Given the description of an element on the screen output the (x, y) to click on. 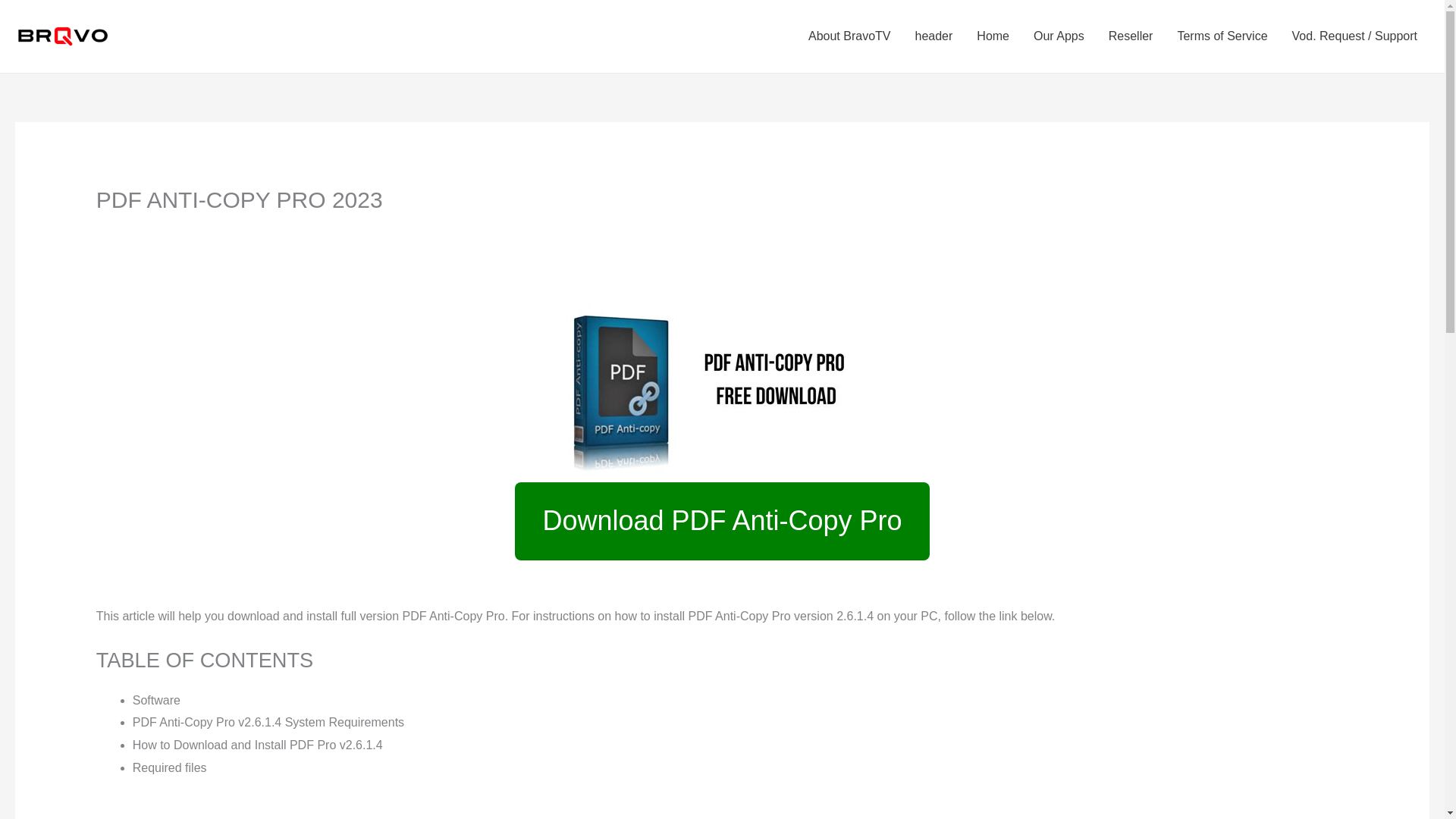
Our Apps (1059, 36)
Reseller (1131, 36)
Home (992, 36)
Download PDF Anti-Copy Pro (722, 530)
About BravoTV (849, 36)
Download PDF Anti-Copy Pro (721, 521)
Terms of Service (1221, 36)
header (932, 36)
